Given the description of an element on the screen output the (x, y) to click on. 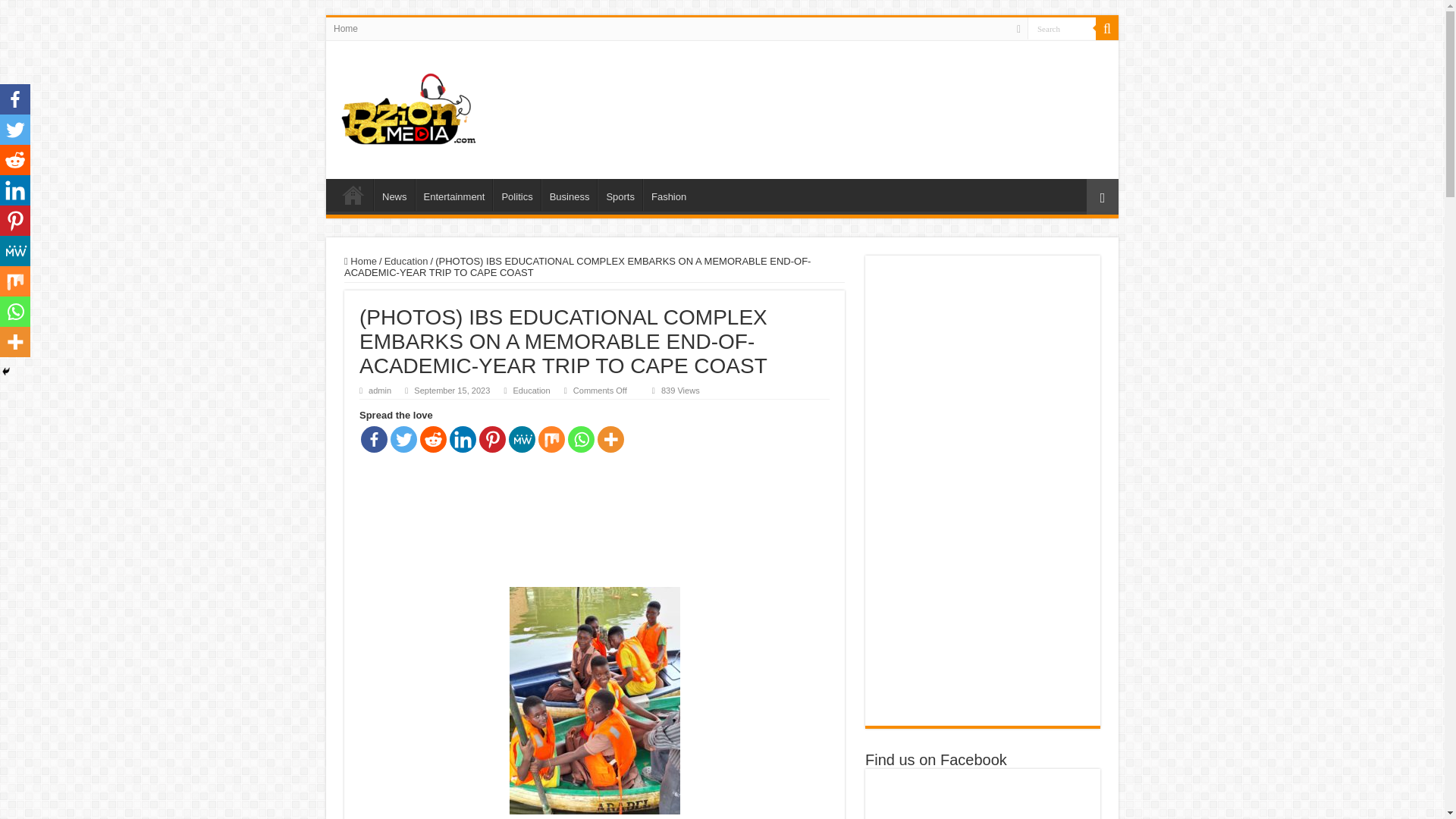
Reddit (433, 438)
Linkedin (462, 438)
Home (345, 28)
Pazionmedia.com (409, 106)
Twitter (403, 438)
Facebook (374, 438)
Sports (619, 194)
Whatsapp (580, 438)
Business (568, 194)
MeWe (521, 438)
